Given the description of an element on the screen output the (x, y) to click on. 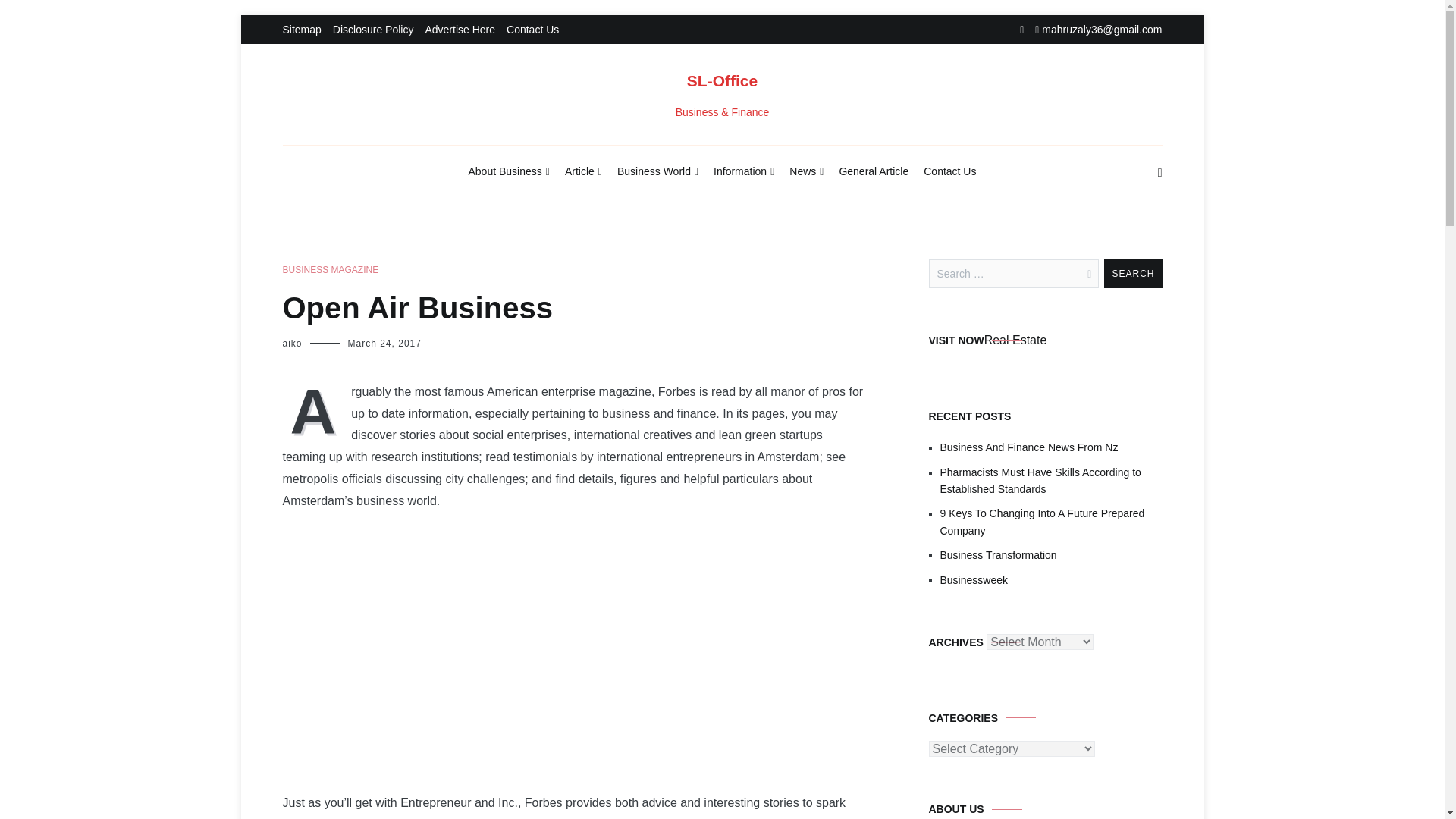
A (316, 409)
Information (743, 171)
SL-Office (722, 80)
Disclosure Policy (373, 29)
Search (1132, 273)
General Article (873, 171)
Business World (657, 171)
News (806, 171)
About Business (509, 171)
Contact Us (949, 171)
Contact Us (532, 29)
Sitemap (301, 29)
Search (1132, 273)
Article (583, 171)
